Given the description of an element on the screen output the (x, y) to click on. 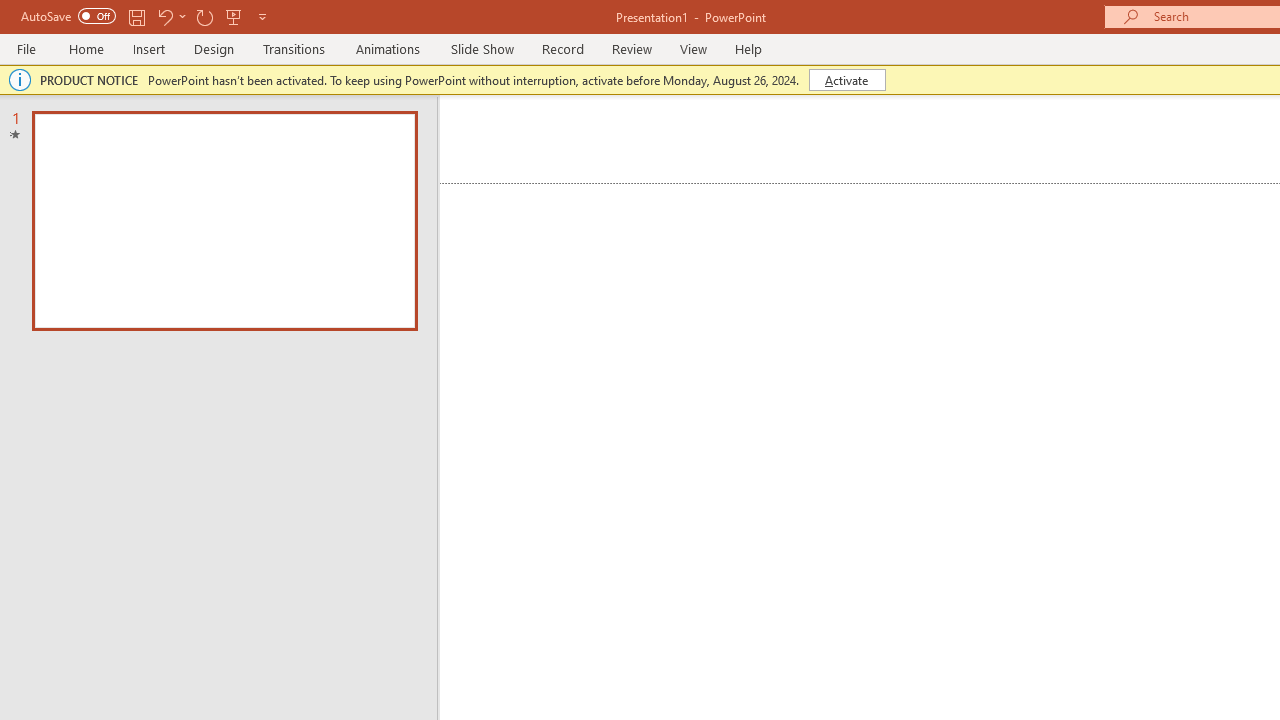
Superscript (390, 180)
Asian Layout (1000, 137)
Align Left (716, 180)
Show/Hide Editing Marks (1098, 137)
Copy (112, 161)
Change Case (524, 137)
Subscript (350, 180)
Format Painter (112, 196)
Character Shading (618, 180)
